Given the description of an element on the screen output the (x, y) to click on. 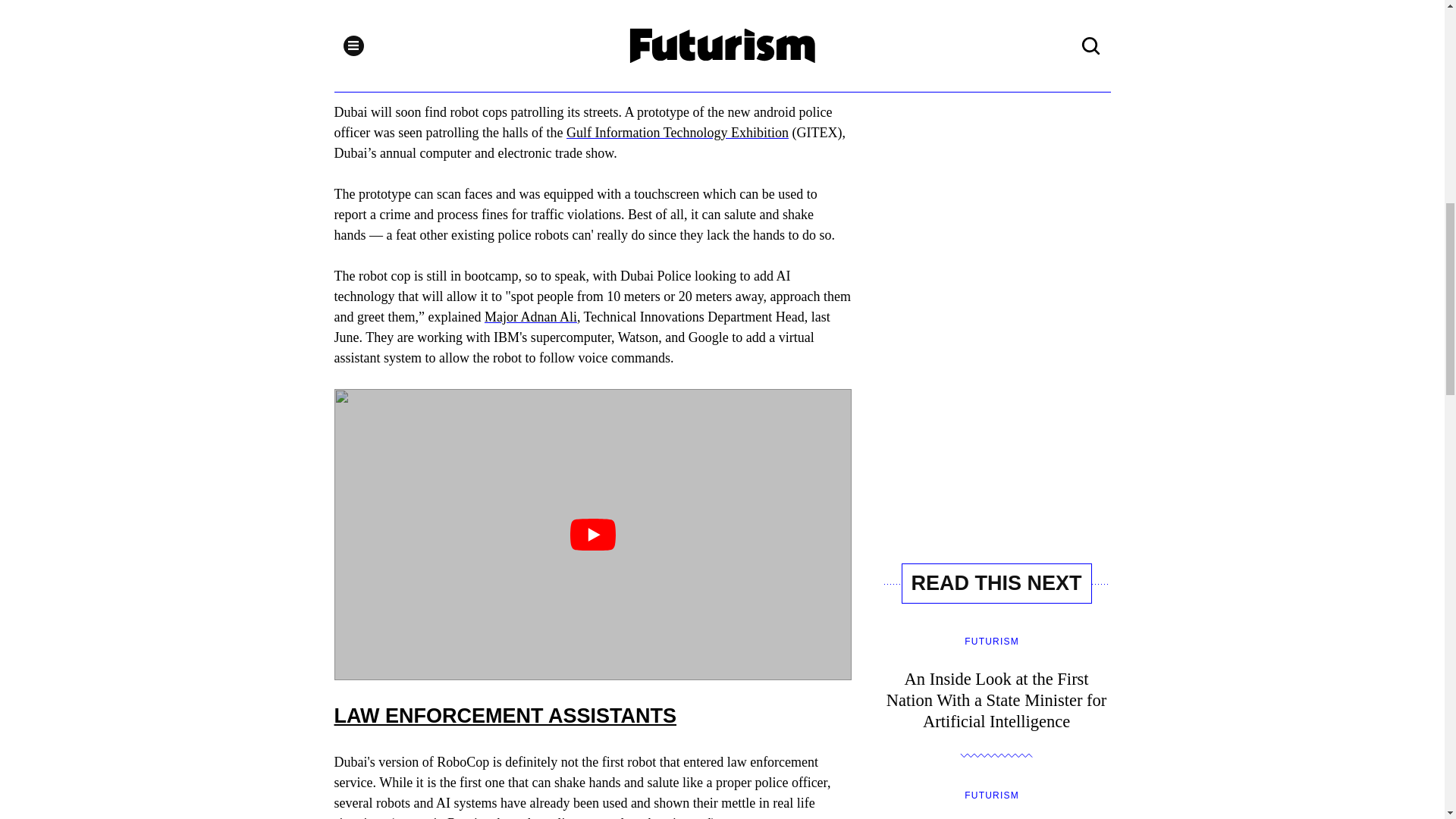
police arrested a robot (604, 817)
Major Adnan Ali (530, 316)
Gulf Information Technology Exhibition (677, 132)
